Given the description of an element on the screen output the (x, y) to click on. 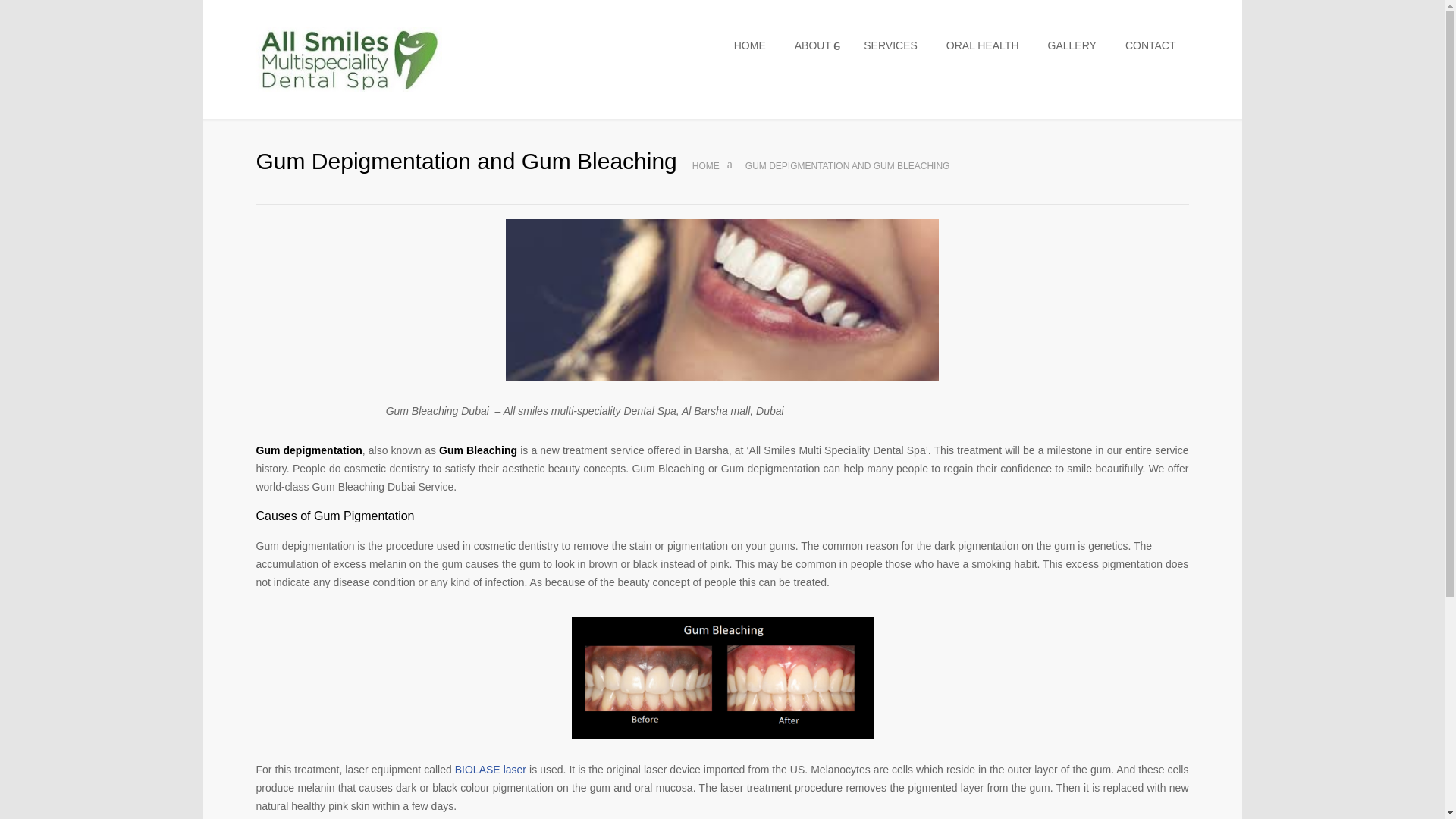
CONTACT (1151, 45)
HOME (750, 45)
ABOUT (815, 45)
SERVICES (890, 45)
ORAL HEALTH (983, 45)
GALLERY (1072, 45)
Home (706, 165)
BIOLASE laser (489, 769)
HOME (706, 165)
